Given the description of an element on the screen output the (x, y) to click on. 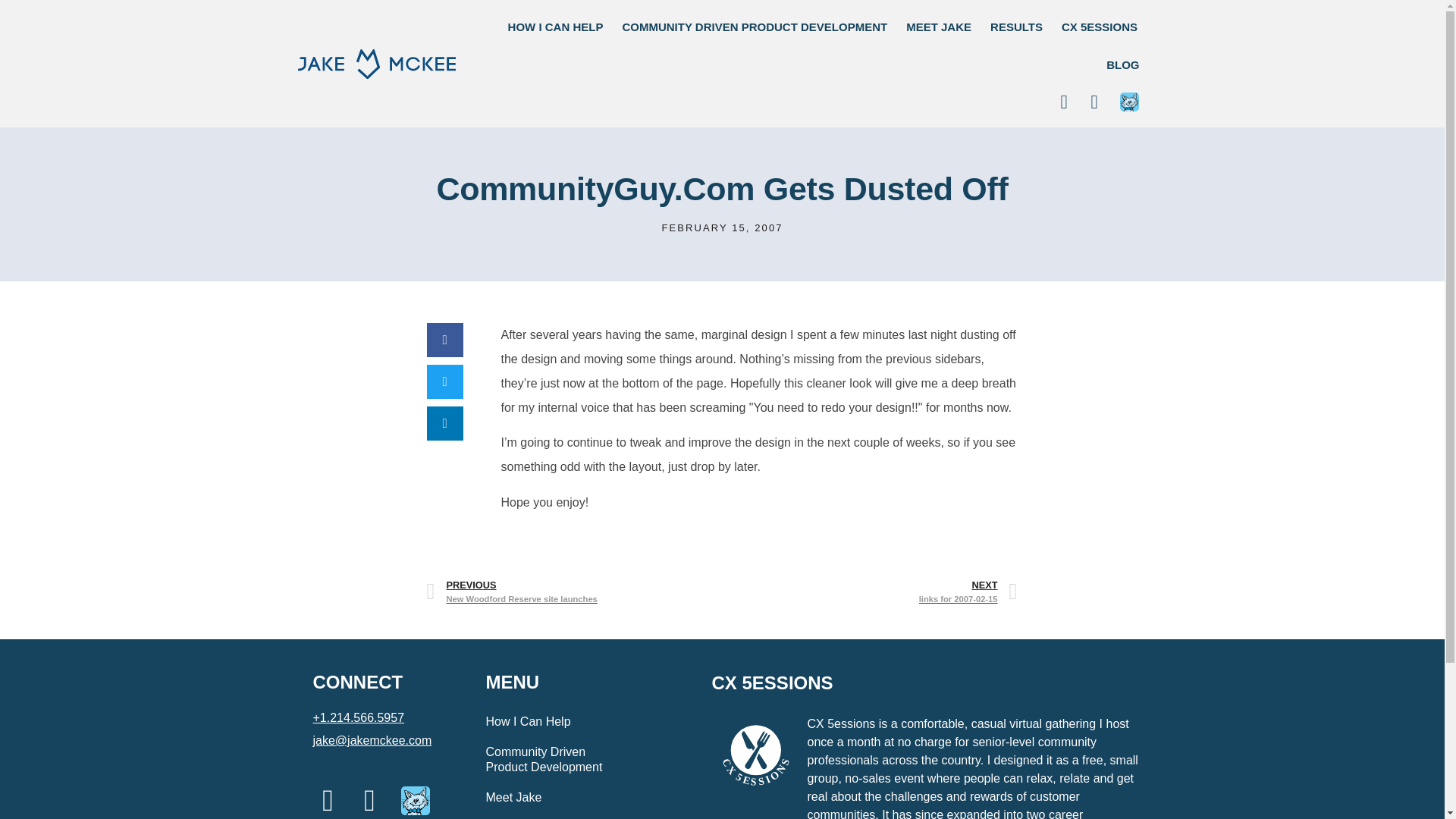
COMMUNITY DRIVEN PRODUCT DEVELOPMENT (754, 26)
BLOG (1123, 64)
HOW I CAN HELP (555, 26)
MEET JAKE (938, 26)
BLOG (1123, 64)
RESULTS (1015, 26)
CX 5ESSIONS (869, 591)
